Given the description of an element on the screen output the (x, y) to click on. 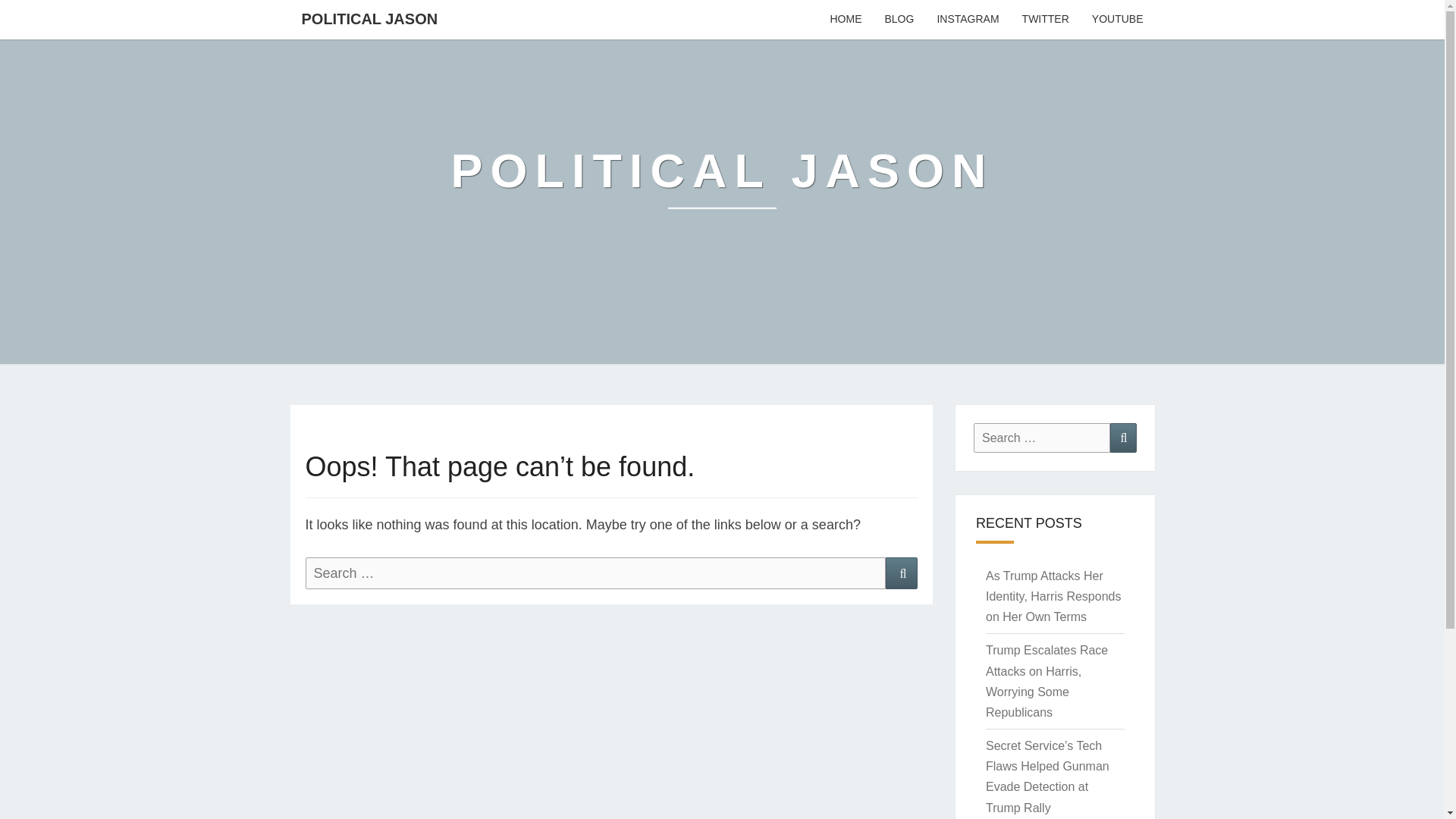
HOME (845, 19)
INSTAGRAM (967, 19)
Search for: (1041, 437)
Search (1123, 437)
Search for: (594, 573)
POLITICAL JASON (368, 18)
BLOG (898, 19)
TWITTER (1045, 19)
Political Jason (722, 181)
